Given the description of an element on the screen output the (x, y) to click on. 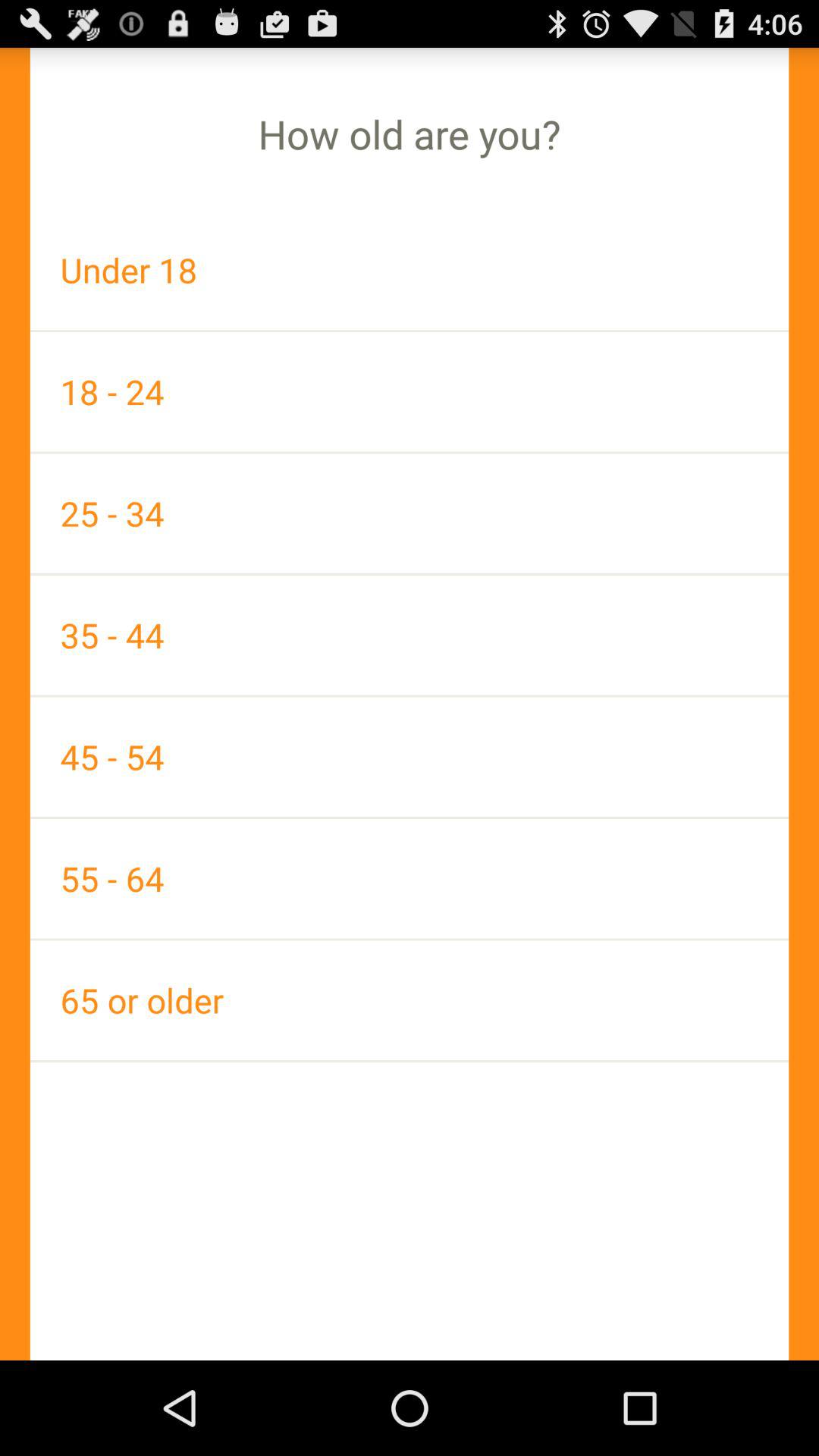
choose the item below under 18 icon (409, 391)
